Given the description of an element on the screen output the (x, y) to click on. 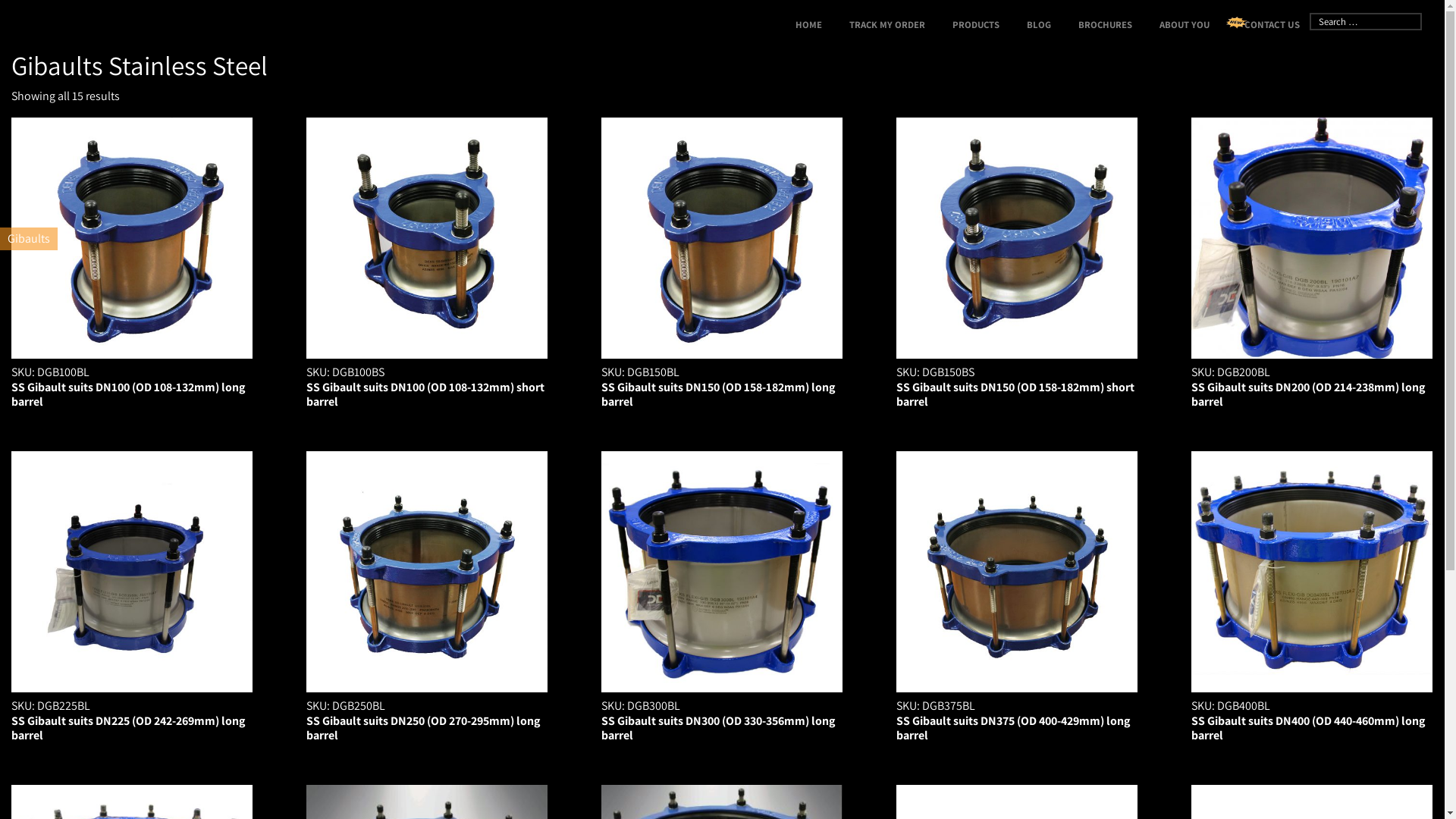
Gibaults Element type: text (28, 238)
HOME Element type: text (808, 24)
ABOUT YOU Element type: text (1184, 24)
BLOG Element type: text (1038, 24)
PRODUCTS Element type: text (975, 24)
BROCHURES Element type: text (1105, 24)
TRACK MY ORDER Element type: text (887, 24)
CONTACT US Element type: text (1271, 24)
